Given the description of an element on the screen output the (x, y) to click on. 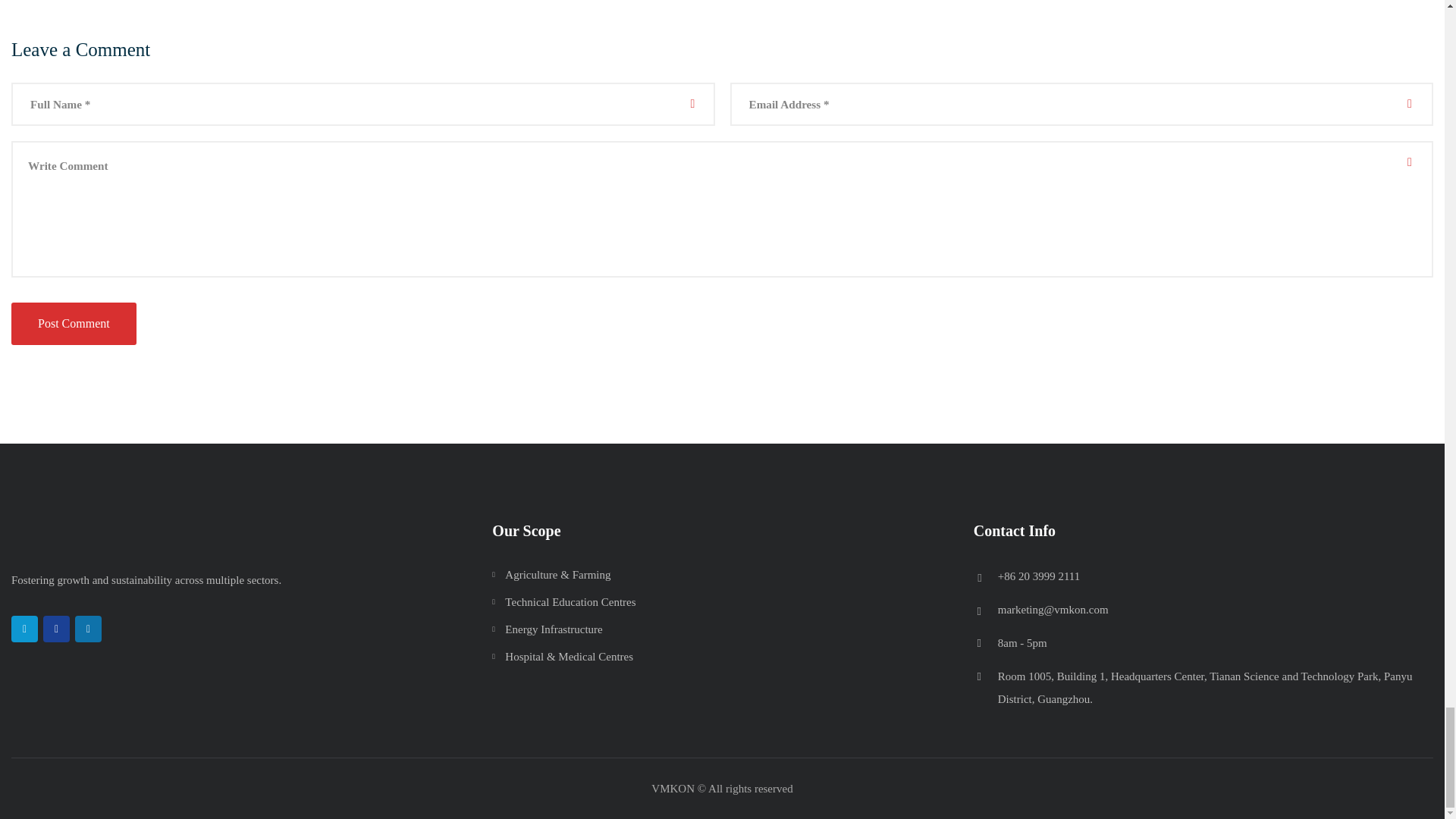
Post Comment (73, 323)
